Given the description of an element on the screen output the (x, y) to click on. 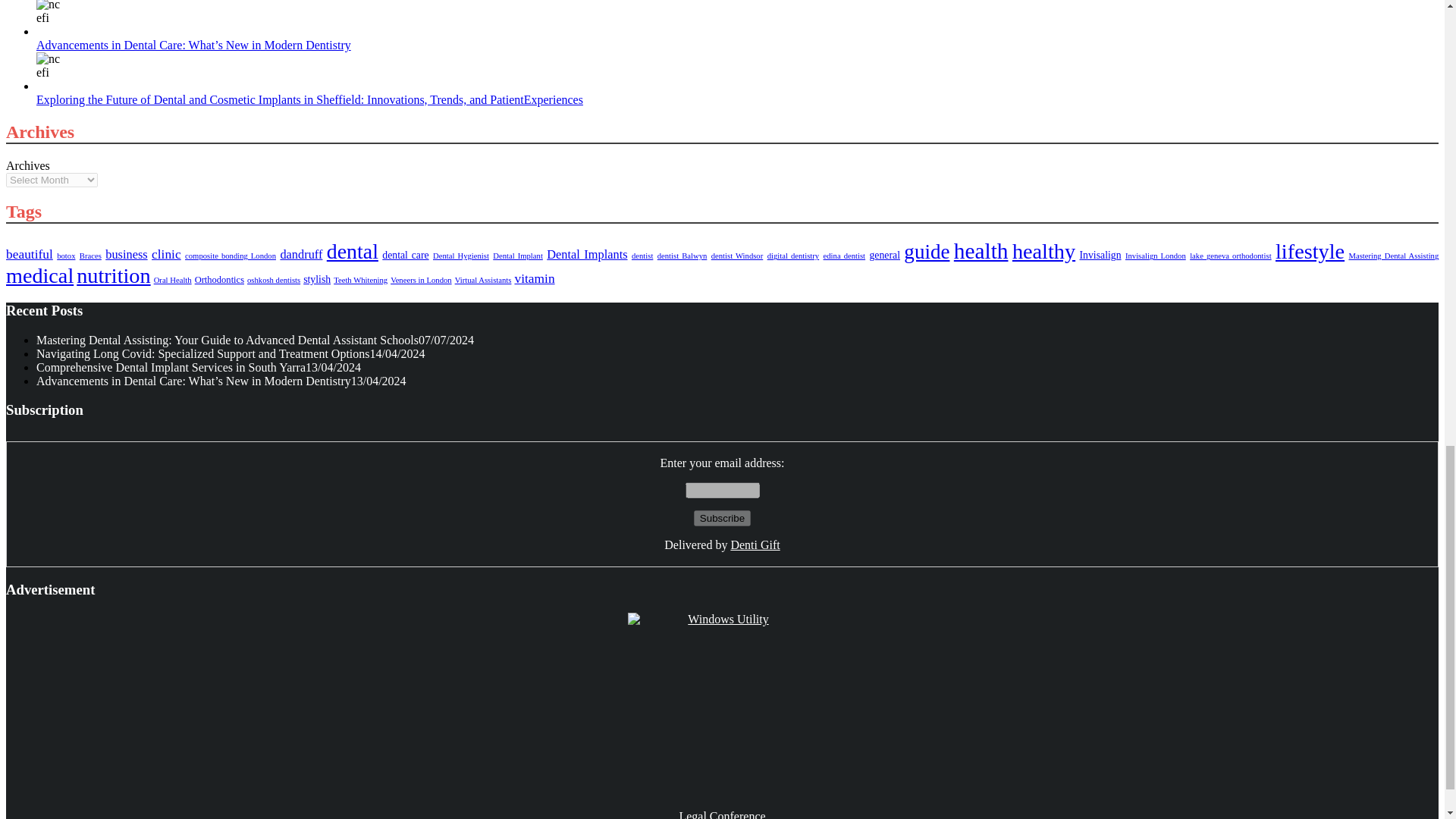
dentist (641, 255)
clinic (165, 253)
dandruff (300, 254)
beautiful (28, 253)
Dental Implants (587, 254)
Braces (90, 255)
Advancements in Dental Care: What's New in Modern Dentistry (50, 13)
botox (65, 255)
dentist Windsor (736, 255)
Dental Implant (518, 255)
composite bonding London (230, 255)
Subscribe (722, 518)
Windows Utility (721, 707)
dentist Balwyn (682, 255)
